Given the description of an element on the screen output the (x, y) to click on. 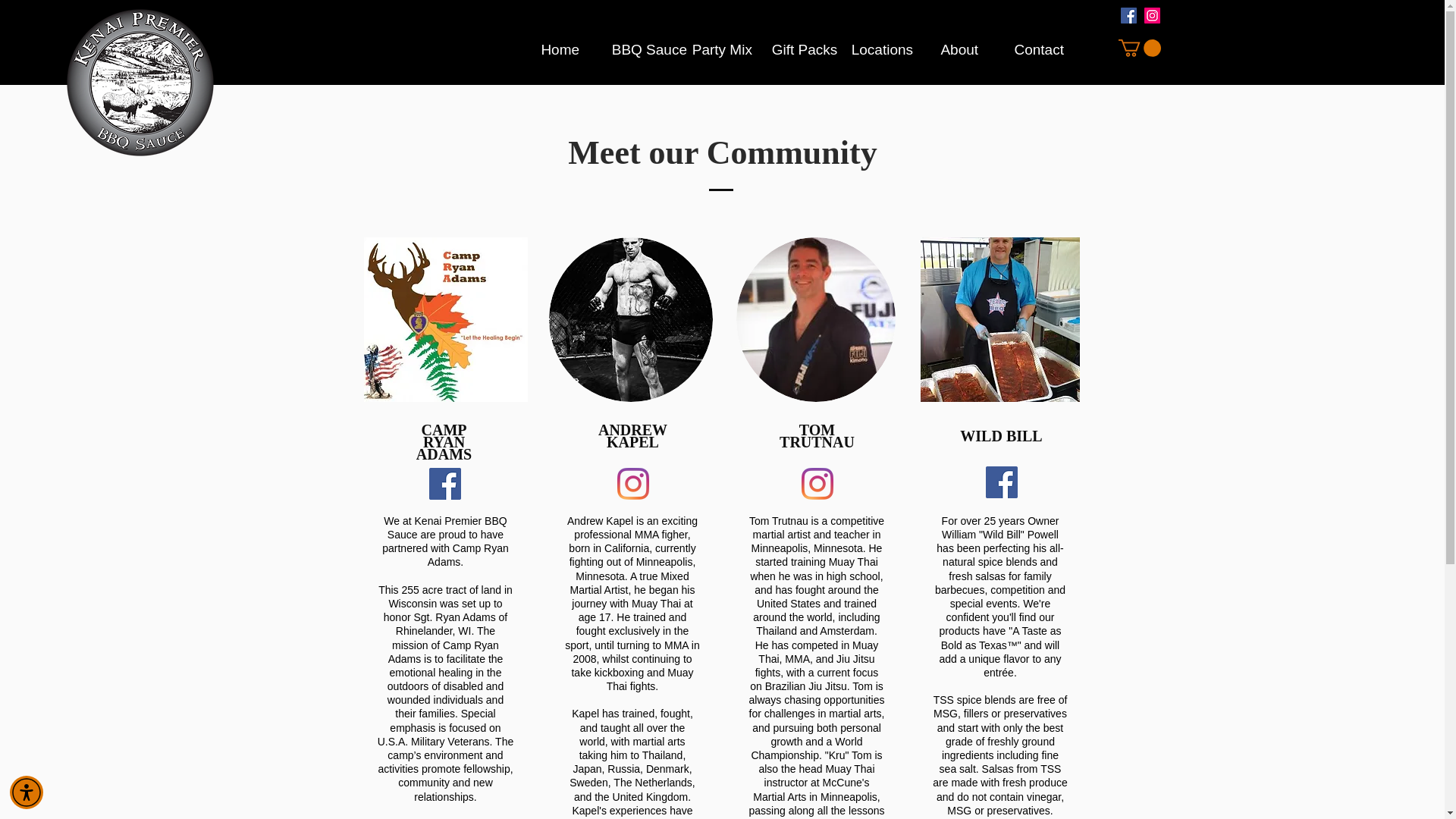
About (959, 50)
Accessibility Menu (26, 792)
BBQ Sauce (640, 50)
Home (559, 50)
Gift Packs (800, 50)
Locations (880, 50)
guy2.jpg (445, 319)
Party Mix (720, 50)
guy4.jpg (630, 319)
guy3.jpg (1000, 319)
Contact (1038, 50)
guy3.jpg (815, 319)
